Given the description of an element on the screen output the (x, y) to click on. 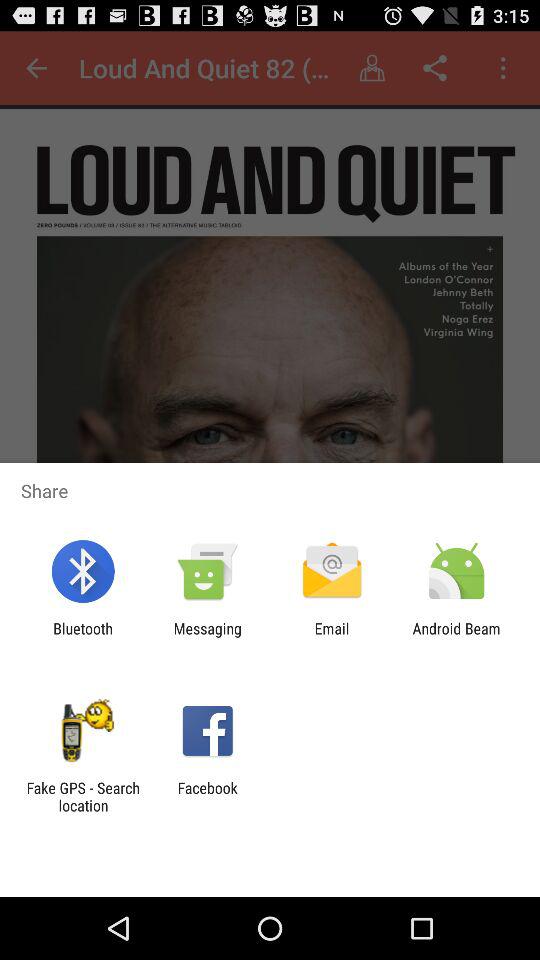
turn off the app next to the messaging item (82, 637)
